Given the description of an element on the screen output the (x, y) to click on. 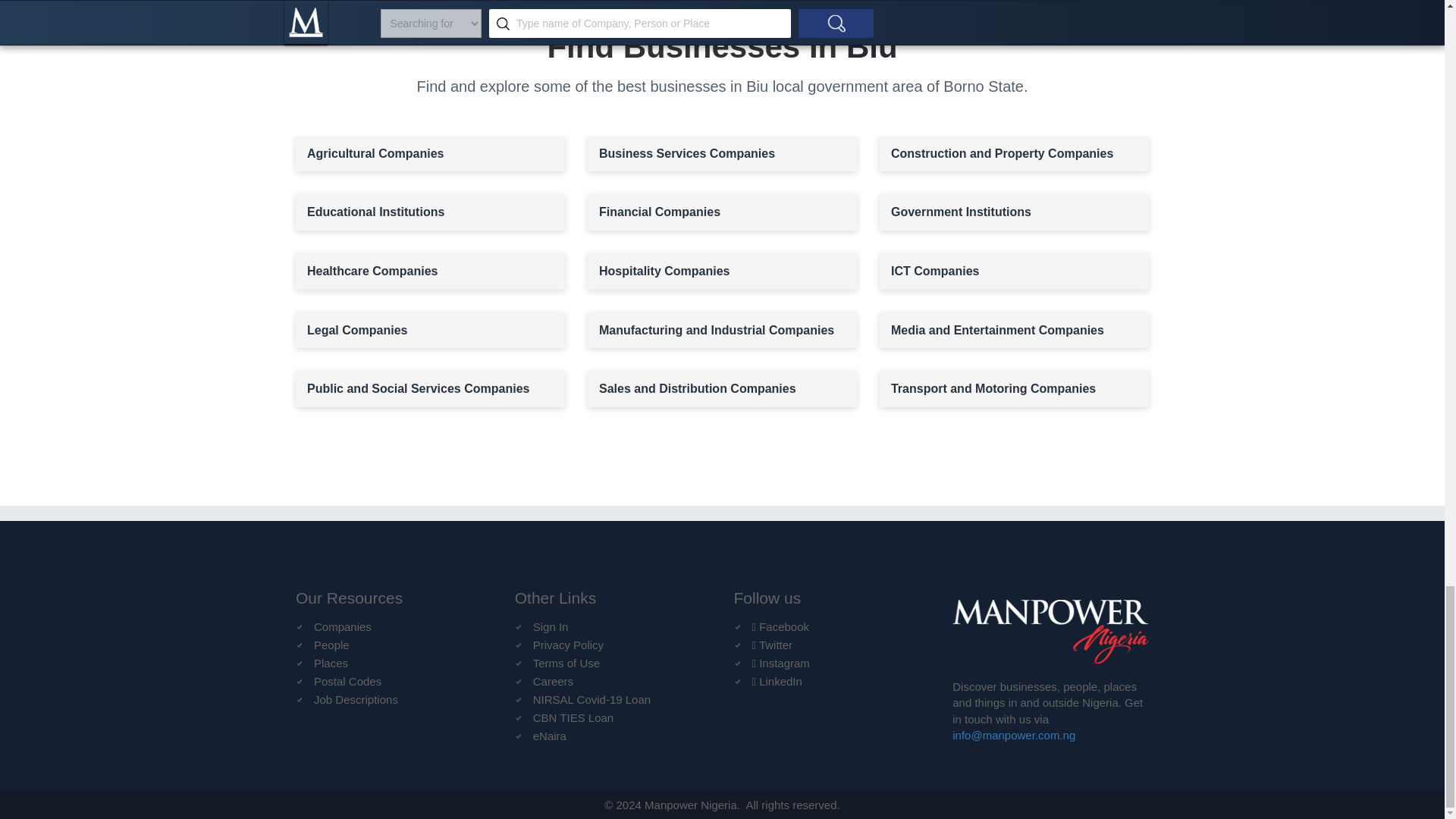
Government Institutions in Biu, Borno State (1013, 212)
Educational Institutions in Biu, Borno State (429, 212)
Financial Companies in Biu, Borno State (722, 212)
Agricultural Companies in Biu, Borno State (429, 153)
Business Services Companies in Biu, Borno State (722, 153)
Hospitality Companies in Biu, Borno State (722, 271)
Construction and Property Companies in Biu, Borno State (1013, 153)
Healthcare Companies in Biu, Borno State (429, 271)
ICT Companies in Biu, Borno State (1013, 271)
